Given the description of an element on the screen output the (x, y) to click on. 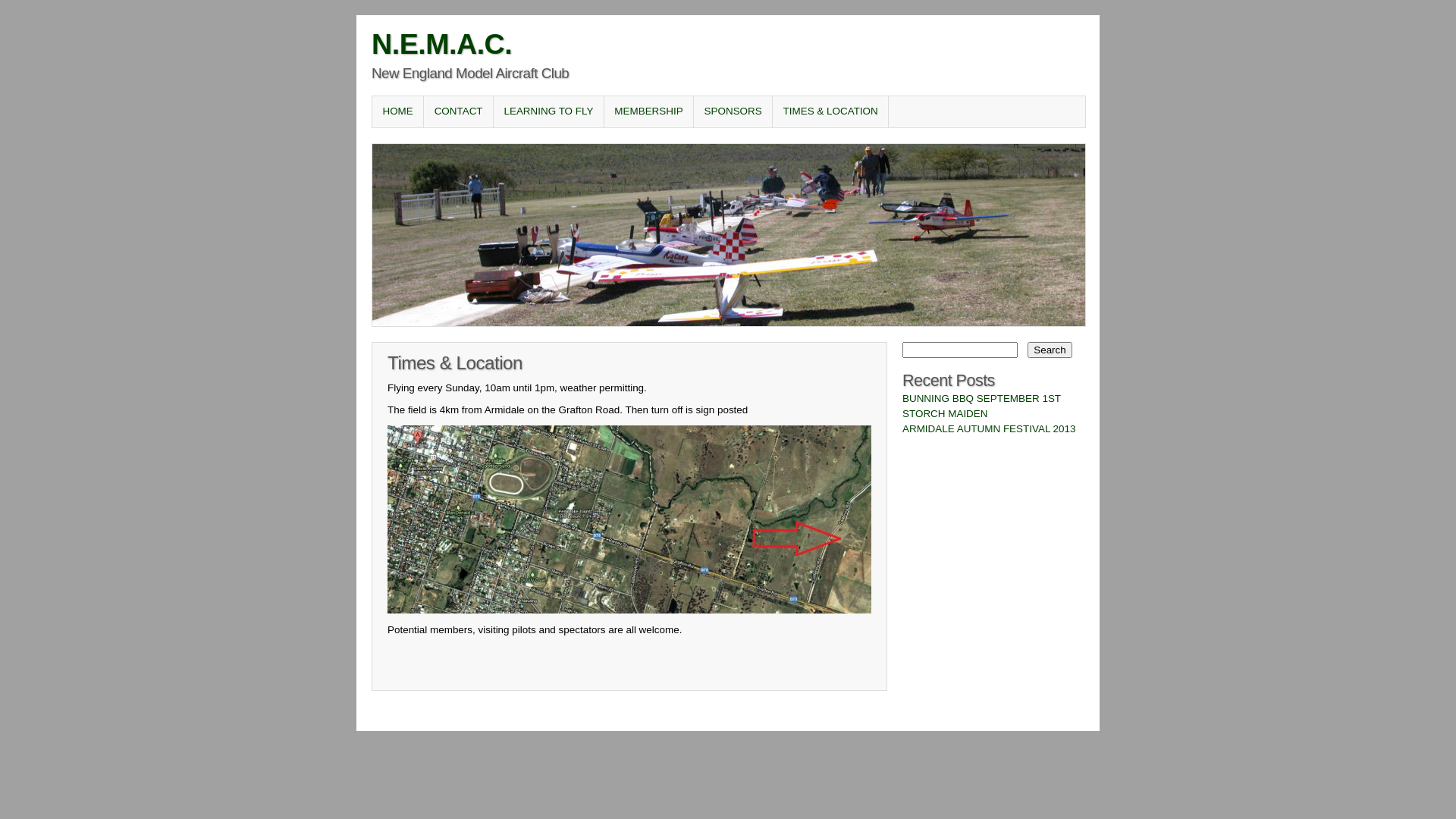
BUNNING BBQ SEPTEMBER 1ST Element type: text (981, 398)
HOME Element type: text (397, 111)
TIMES & LOCATION Element type: text (830, 111)
CONTACT Element type: text (457, 111)
STORCH MAIDEN Element type: text (945, 413)
SPONSORS Element type: text (732, 111)
MEMBERSHIP Element type: text (648, 111)
N.E.M.A.C. Element type: text (441, 43)
SKIP TO CONTENT Element type: text (428, 111)
LEARNING TO FLY Element type: text (548, 111)
Search Element type: text (1049, 349)
ARMIDALE AUTUMN FESTIVAL 2013 Element type: text (989, 428)
